Given the description of an element on the screen output the (x, y) to click on. 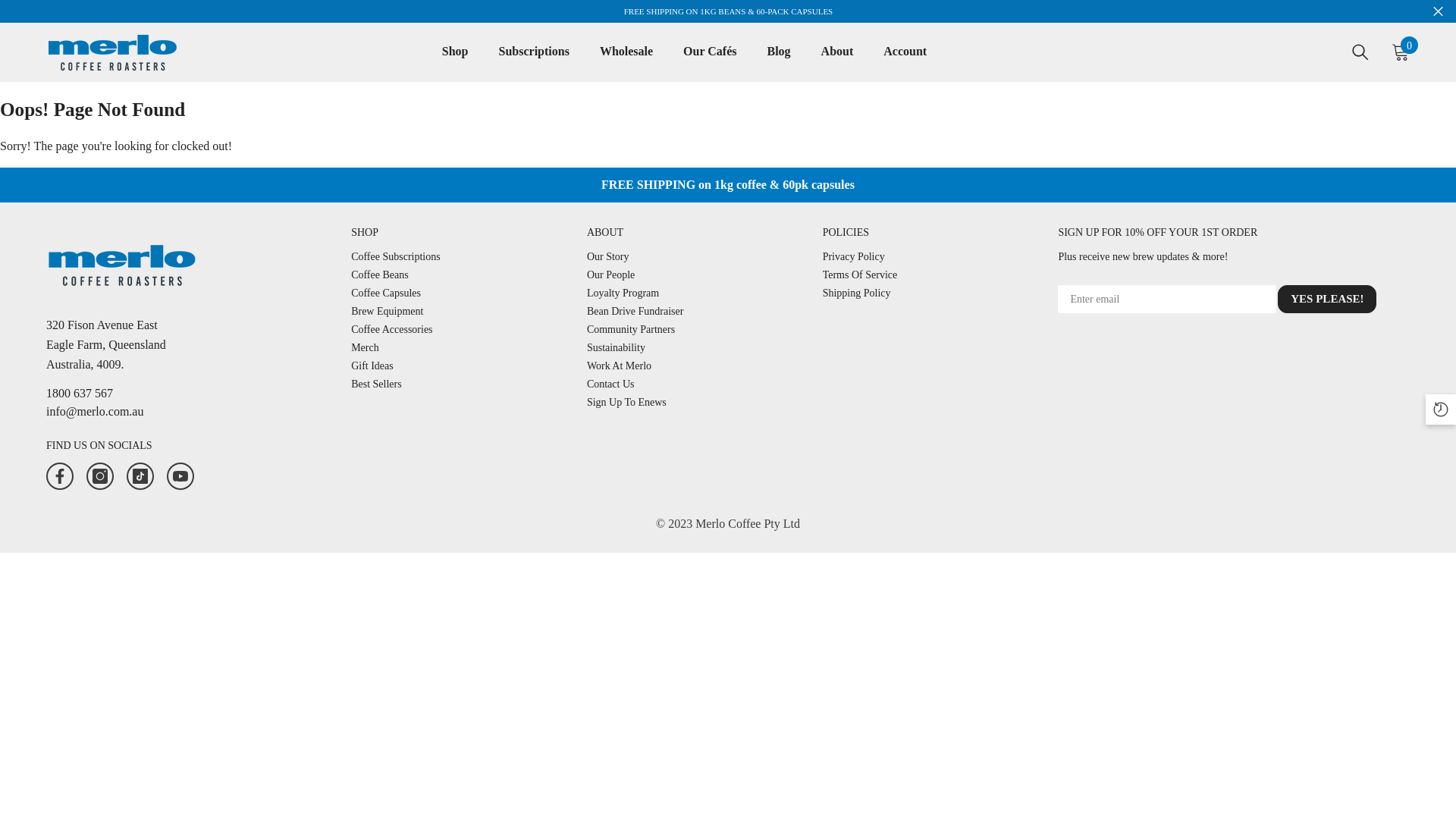
TikTok Element type: text (139, 475)
Gift Ideas Element type: text (372, 365)
Best Sellers Element type: text (376, 384)
LEARN MORE Element type: text (809, 10)
Bean Drive Fundraiser Element type: text (635, 311)
Coffee Capsules Element type: text (385, 293)
Close Element type: text (1437, 10)
About Element type: text (837, 62)
Instagram Element type: text (99, 475)
Sustainability Element type: text (615, 347)
Work At Merlo Element type: text (618, 365)
Privacy Policy Element type: text (853, 256)
Coffee Subscriptions Element type: text (395, 256)
Contact Us Element type: text (610, 384)
Wholesale Element type: text (626, 62)
Subscriptions Element type: text (533, 62)
Our Story Element type: text (607, 256)
Account Element type: text (904, 62)
Coffee Accessories Element type: text (391, 329)
Shipping Policy Element type: text (856, 293)
Terms Of Service Element type: text (859, 274)
Loyalty Program Element type: text (622, 293)
YES PLEASE! Element type: text (1326, 299)
Sign Up To Enews Element type: text (626, 402)
Blog Element type: text (778, 62)
Facebook Element type: text (59, 475)
Our People Element type: text (610, 274)
Community Partners Element type: text (630, 329)
Cart
0
0 items Element type: text (1400, 52)
Brew Equipment Element type: text (387, 311)
Merch Element type: text (365, 347)
Coffee Beans Element type: text (379, 274)
YouTube Element type: text (180, 475)
Shop Element type: text (454, 62)
